Given the description of an element on the screen output the (x, y) to click on. 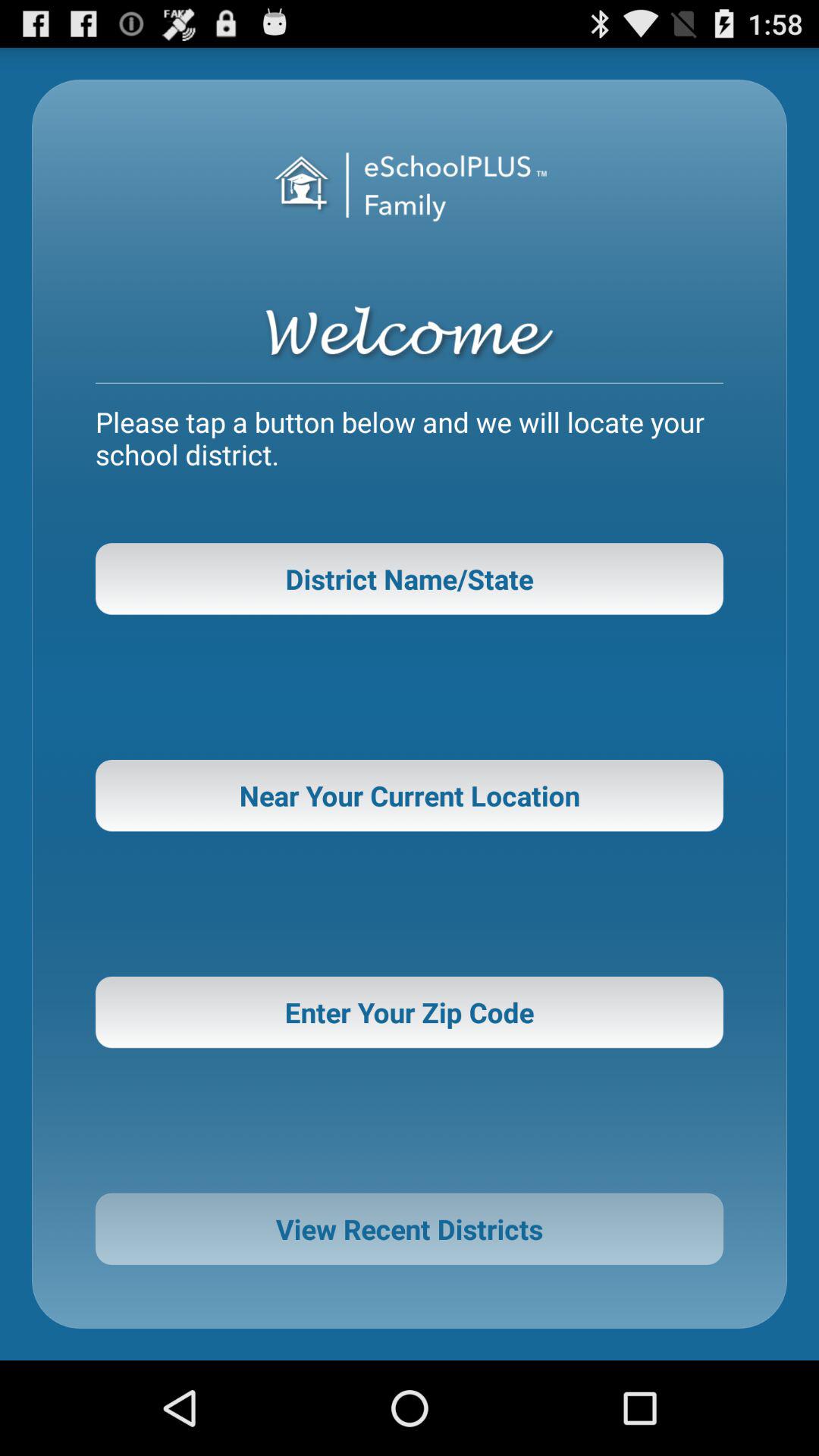
open the button above near your current icon (409, 578)
